Given the description of an element on the screen output the (x, y) to click on. 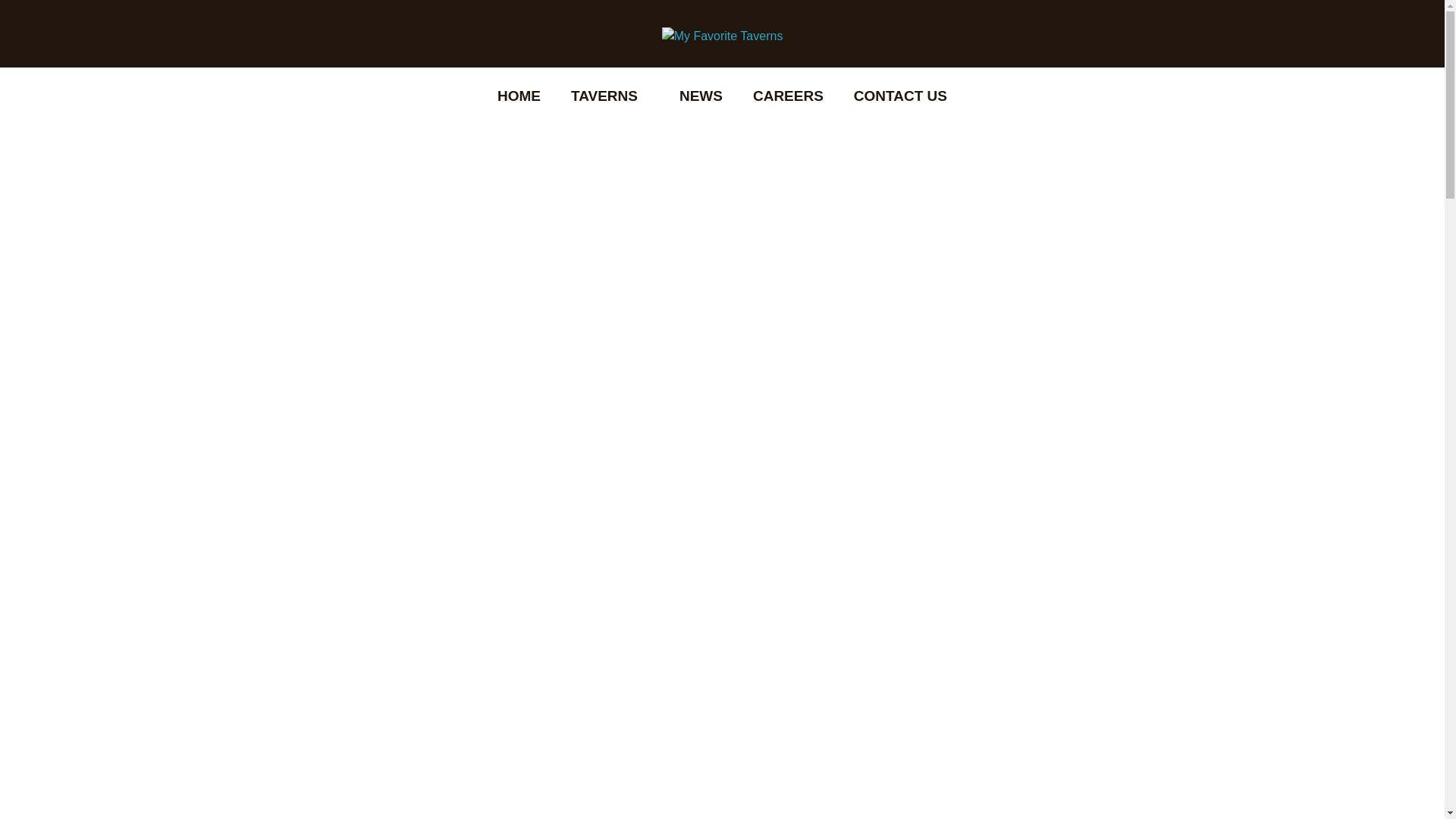
CAREERS (788, 95)
HOME (518, 95)
The Mill (609, 241)
The Rusty Nail (609, 147)
CONTACT US (900, 95)
NEWS (700, 95)
TAVERNS (609, 95)
